Given the description of an element on the screen output the (x, y) to click on. 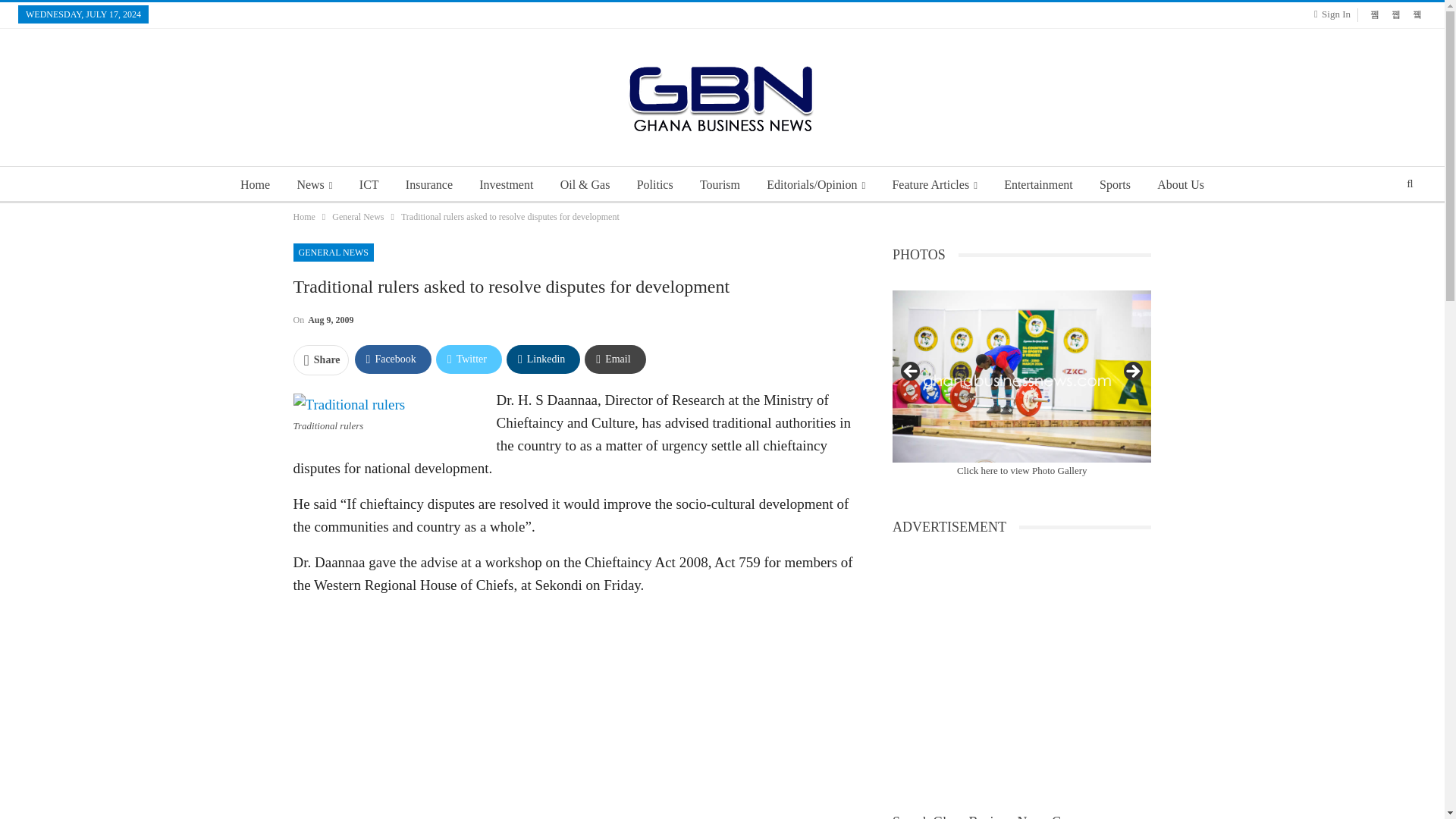
Entertainment (1037, 185)
Sports (1115, 185)
General News (357, 216)
Email (615, 358)
About Us (1180, 185)
ICT (369, 185)
Investment (505, 185)
Home (255, 185)
Advertisement (574, 714)
Tourism (719, 185)
Politics (654, 185)
Twitter (468, 358)
Home (303, 216)
Insurance (428, 185)
Facebook (392, 358)
